Given the description of an element on the screen output the (x, y) to click on. 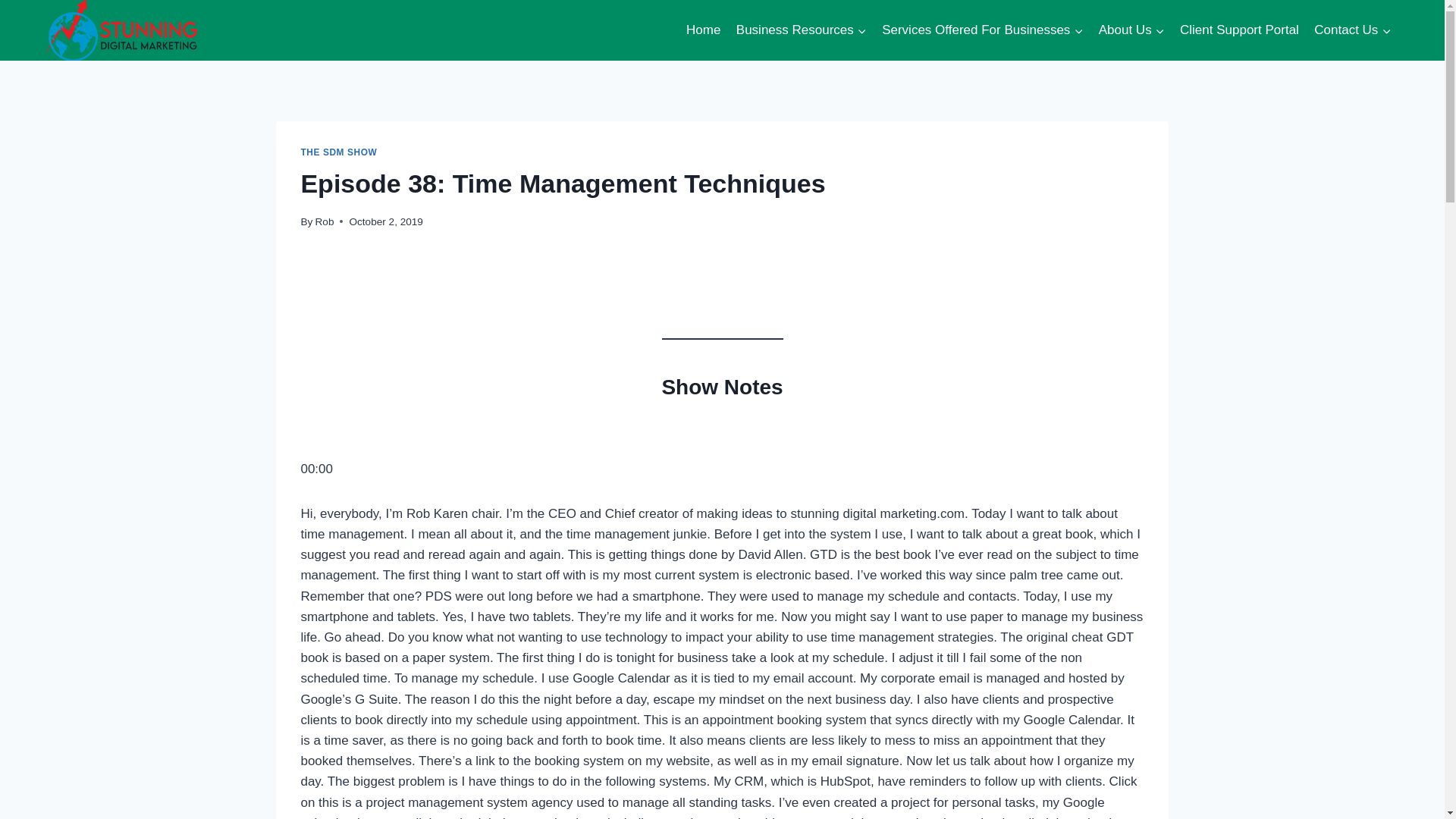
About Us (1131, 30)
Business Resources (802, 30)
Contact Us (1351, 30)
Rob (324, 221)
Services Offered For Businesses (982, 30)
THE SDM SHOW (338, 152)
Client Support Portal (1239, 30)
Home (703, 30)
